Given the description of an element on the screen output the (x, y) to click on. 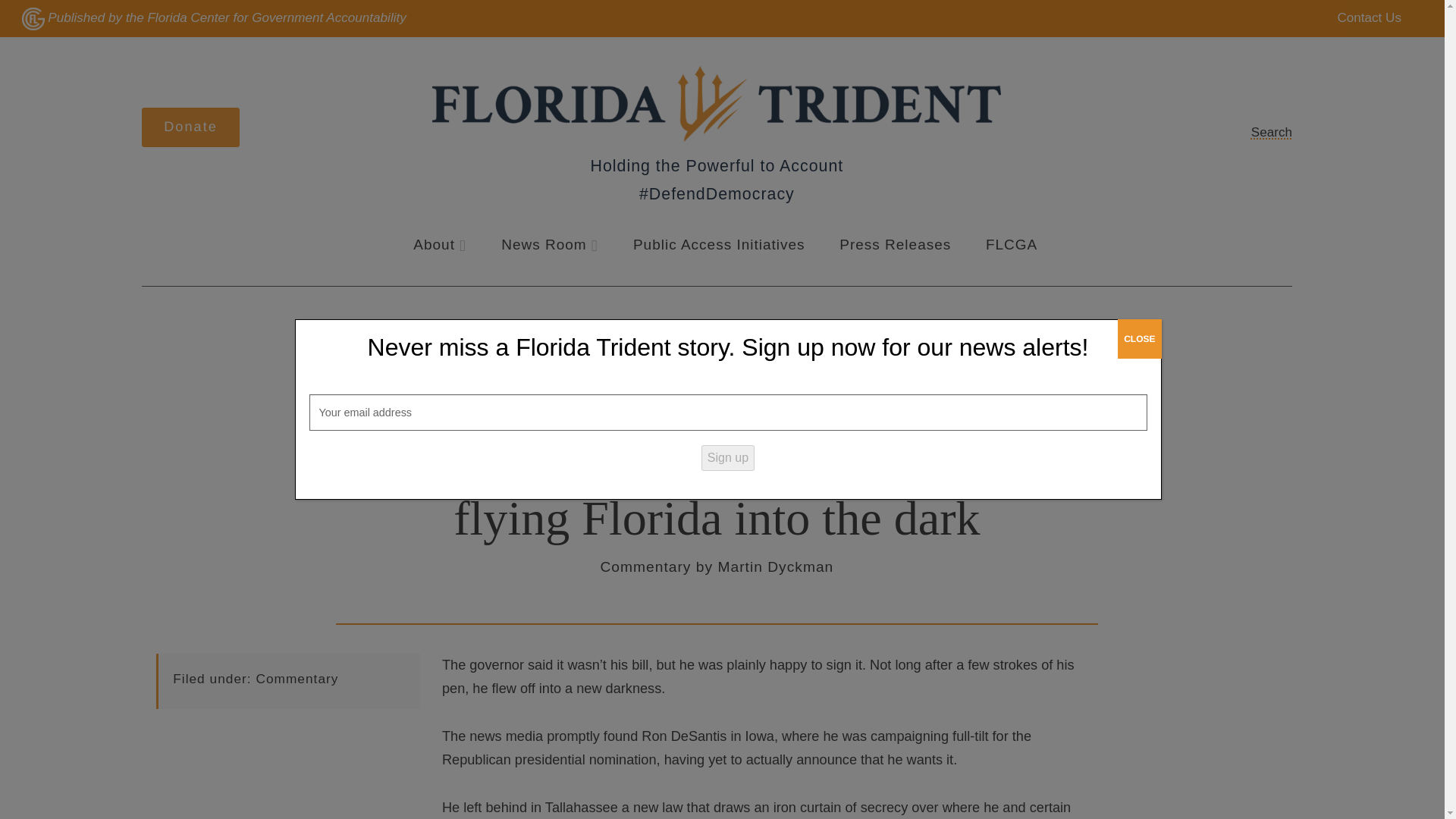
FLCGA (1010, 244)
Sign up (727, 457)
News Room (543, 244)
News Room: submenu (593, 245)
Donate (190, 127)
Search (1259, 132)
Martin Dyckman (774, 566)
About (433, 244)
Commentary (296, 678)
Public Access Initiatives (719, 244)
Contact Us (1358, 17)
Press Releases (895, 244)
About: submenu (462, 245)
